Given the description of an element on the screen output the (x, y) to click on. 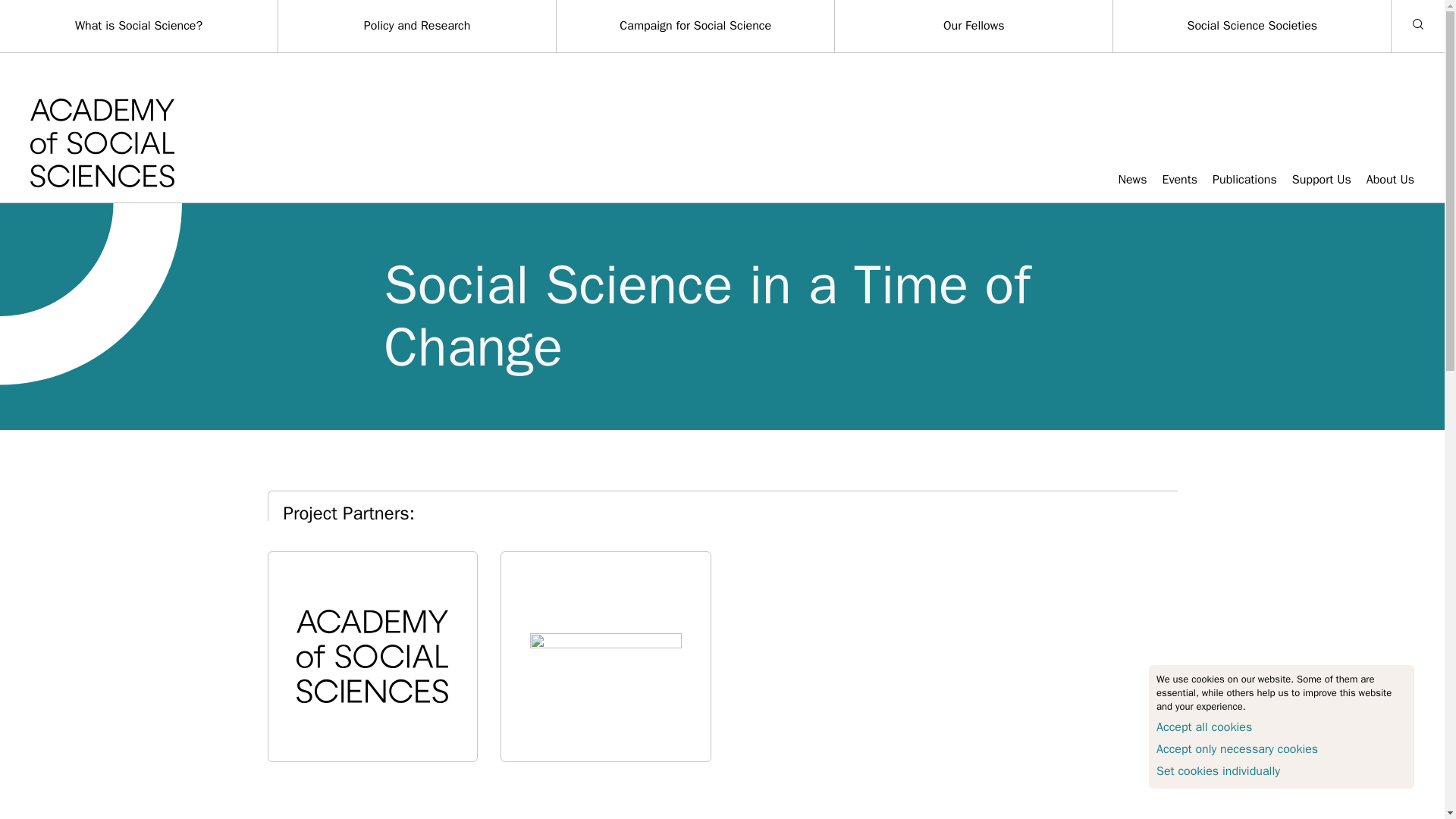
Campaign for Social Science (695, 26)
What is Social Science? (138, 26)
Policy and Research (417, 26)
